Given the description of an element on the screen output the (x, y) to click on. 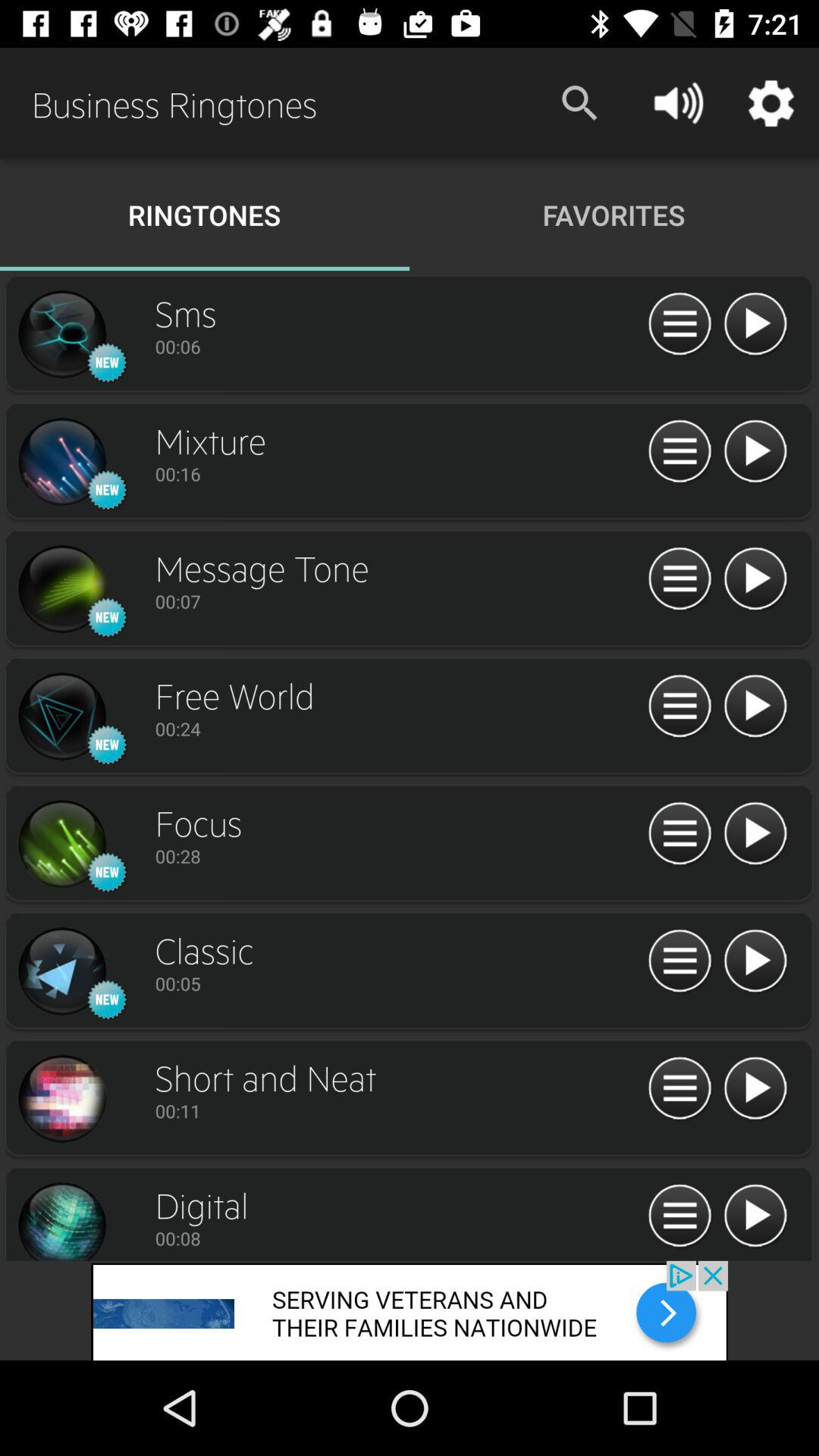
go to play (755, 834)
